Given the description of an element on the screen output the (x, y) to click on. 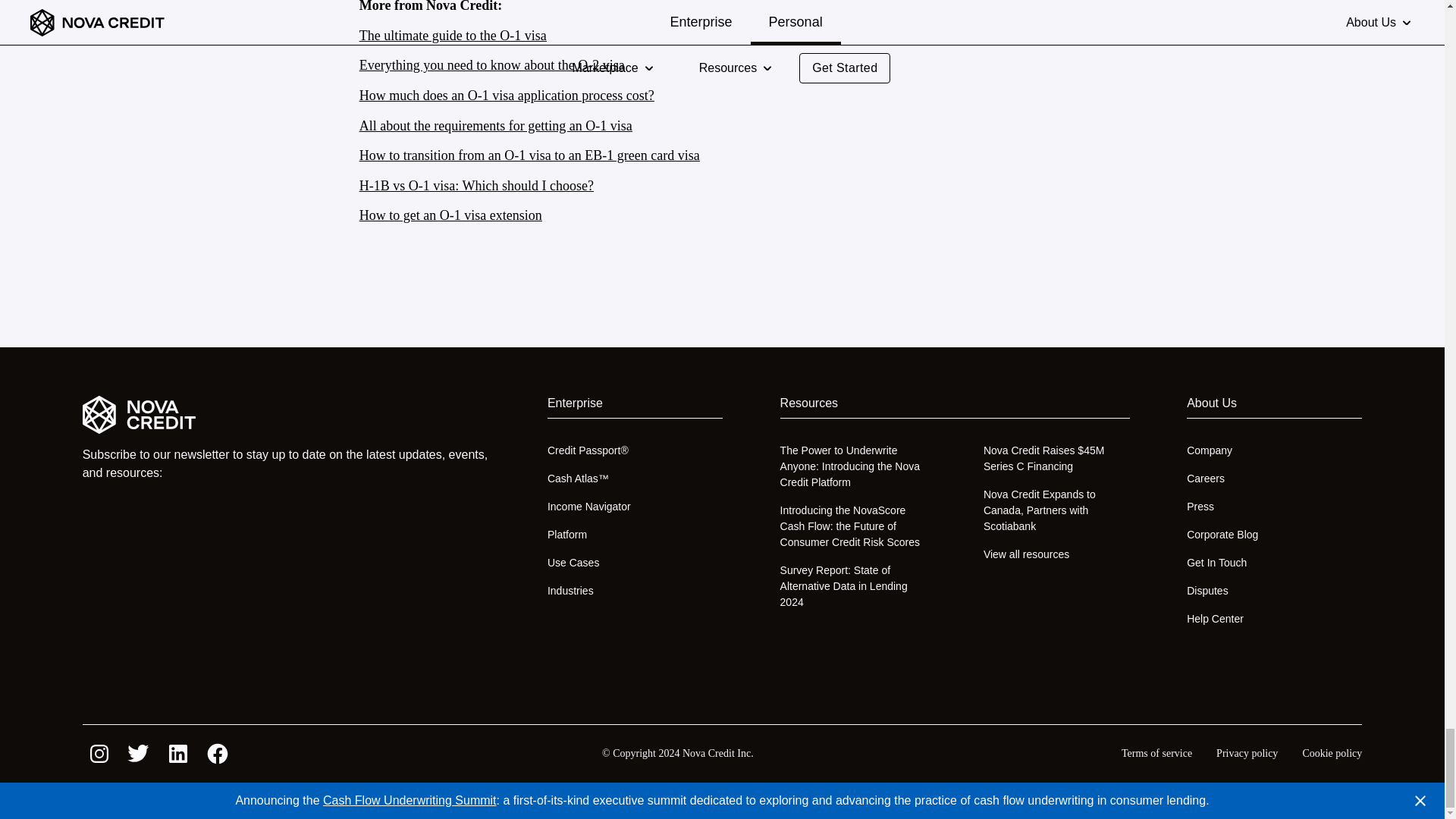
Nova Credit (286, 414)
